Given the description of an element on the screen output the (x, y) to click on. 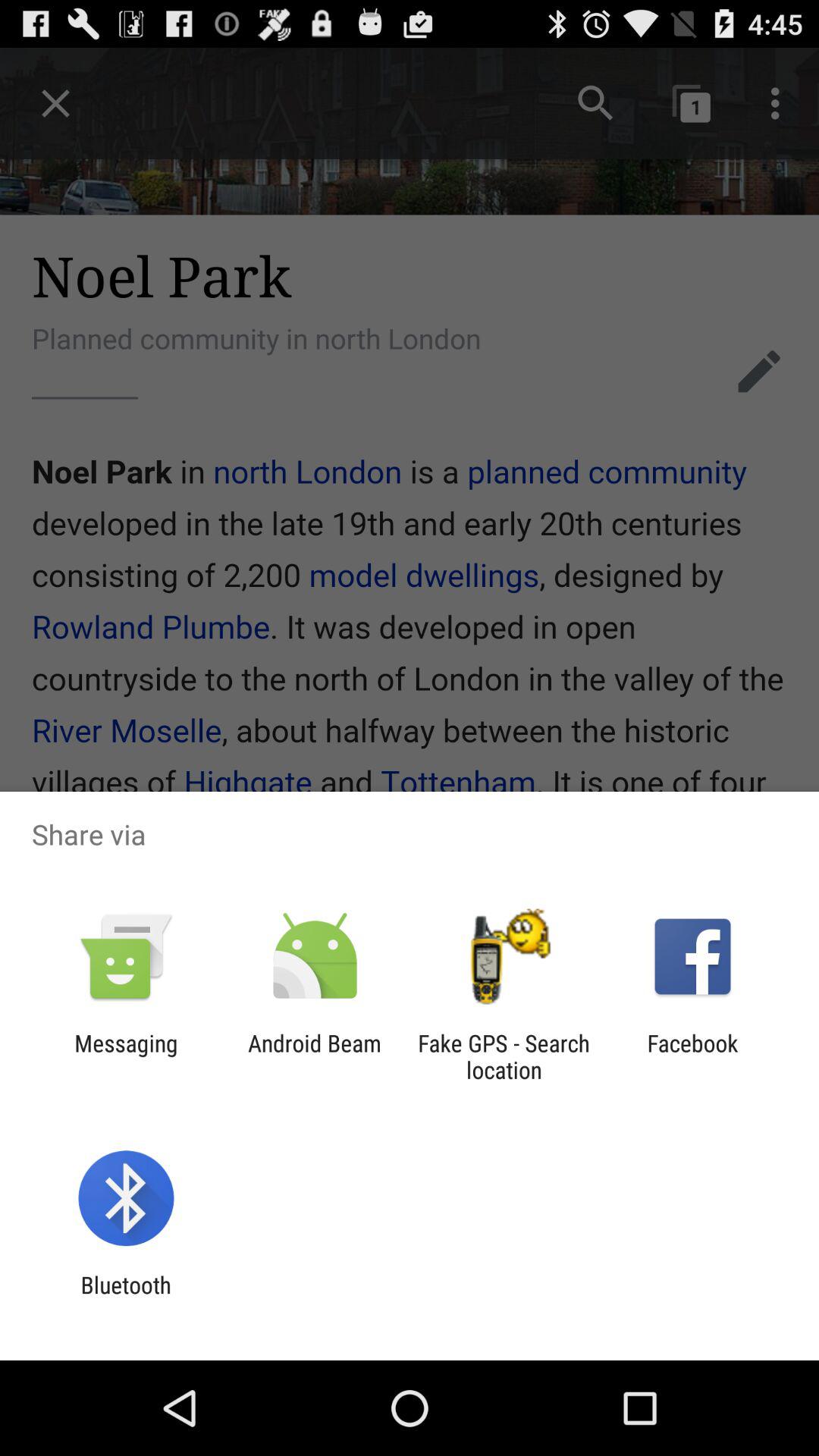
launch icon to the right of android beam icon (503, 1056)
